Given the description of an element on the screen output the (x, y) to click on. 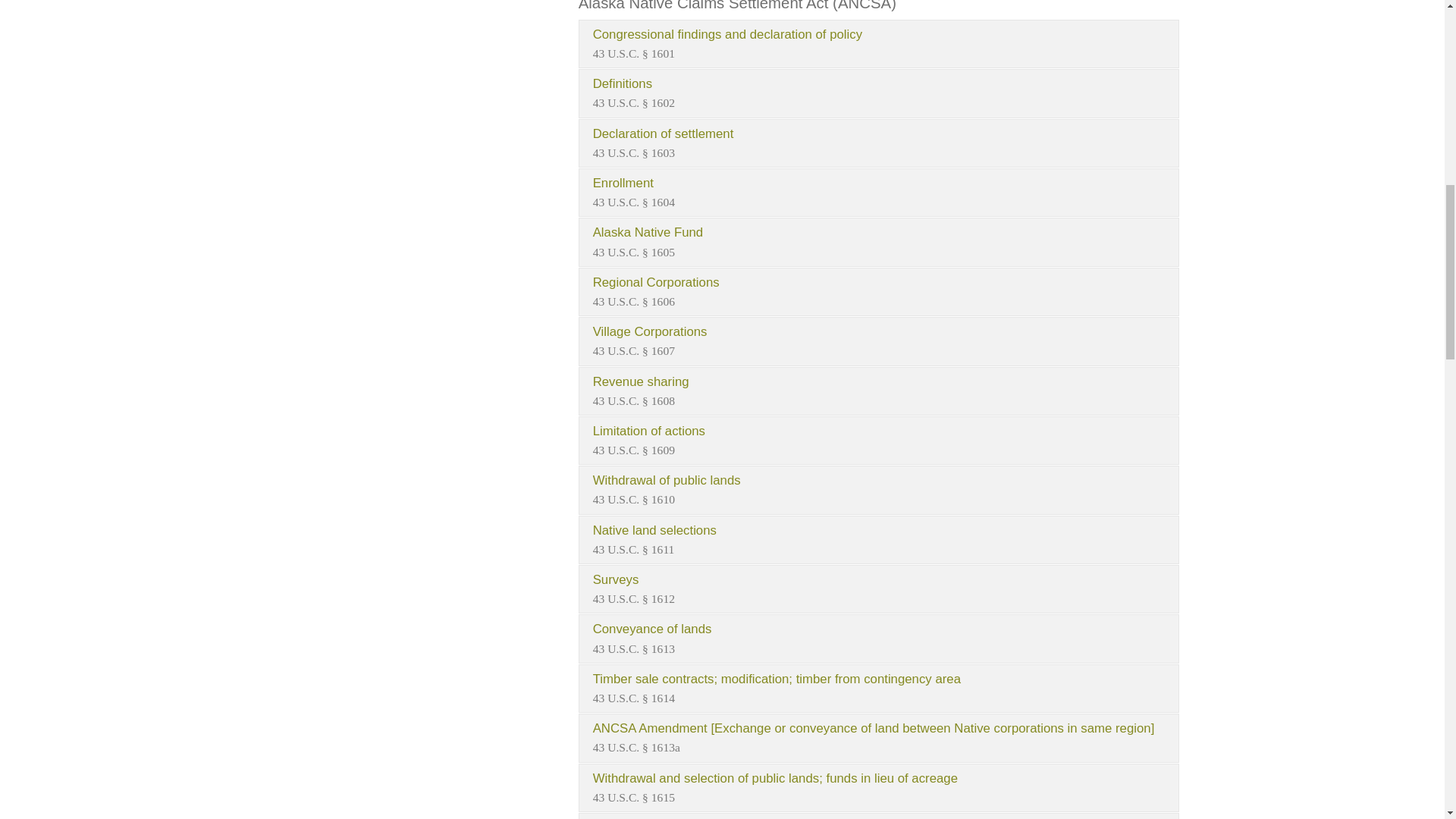
Surveys (878, 589)
Congressional findings and declaration of policy (878, 43)
Village Corporations (878, 340)
Limitation of actions (878, 440)
Native land selections (878, 539)
Declaration of settlement (878, 142)
Enrollment (878, 192)
Alaska Native Fund (878, 241)
Definitions (878, 92)
Revenue sharing (878, 390)
Regional Corporations (878, 291)
Withdrawal of public lands (878, 490)
Conveyance of lands (878, 638)
